Given the description of an element on the screen output the (x, y) to click on. 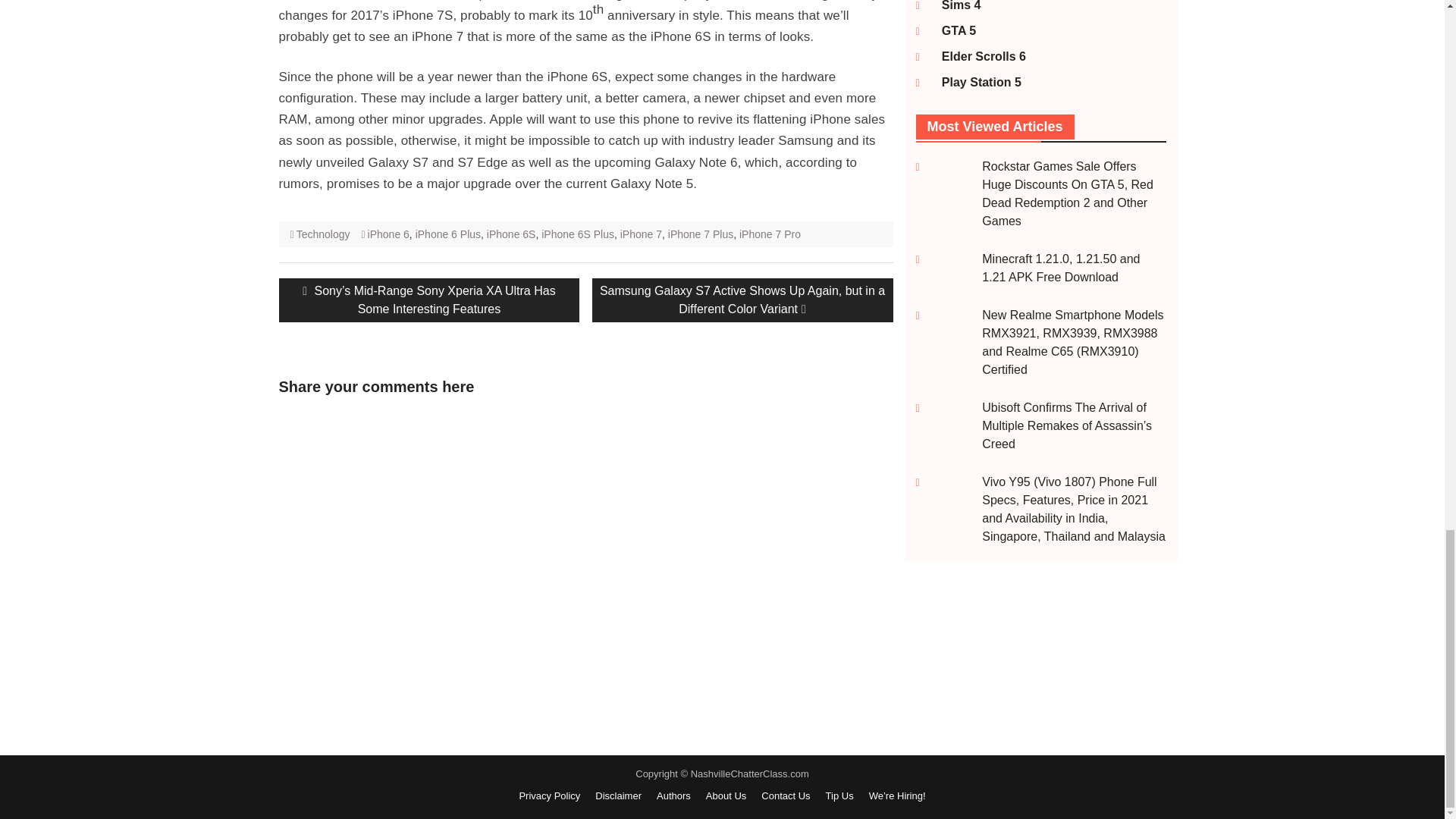
iPhone 7 (641, 234)
Minecraft 1.21.0, 1.21.50 and 1.21 APK Free Download (1060, 267)
Comment Form (380, 572)
iPhone 6S Plus (577, 234)
iPhone 6S (510, 234)
iPhone 6 Plus (447, 234)
iPhone 7 Pro (769, 234)
iPhone 6 (388, 234)
Technology (323, 234)
iPhone 7 Plus (700, 234)
